Given the description of an element on the screen output the (x, y) to click on. 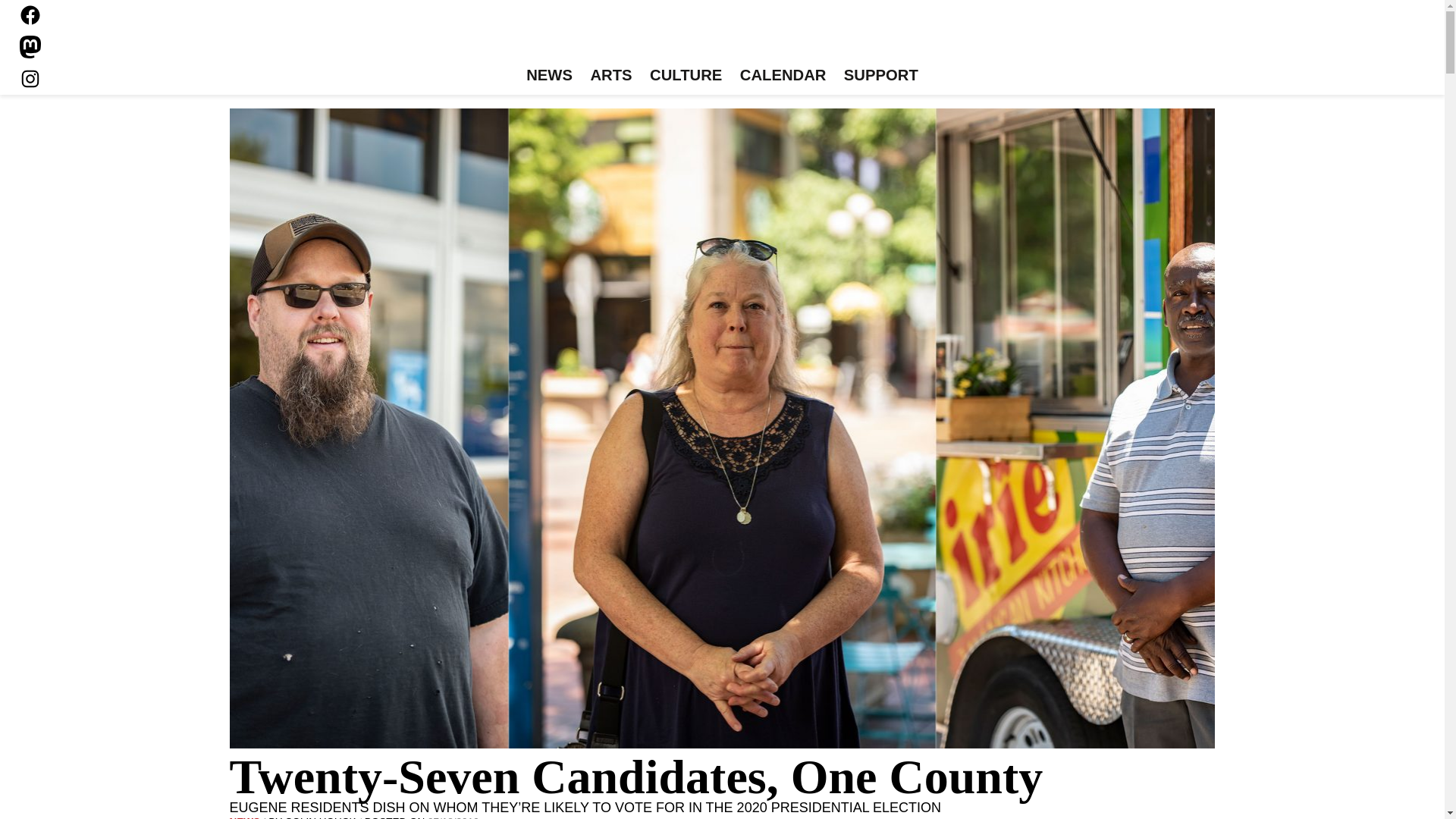
Instagram (30, 78)
CULTURE (685, 75)
NEWS (548, 75)
CALENDAR (782, 75)
ARTS (611, 75)
SUPPORT (880, 75)
Mastodon (30, 47)
Eugene Weekly (721, 37)
Facebook (30, 15)
